Given the description of an element on the screen output the (x, y) to click on. 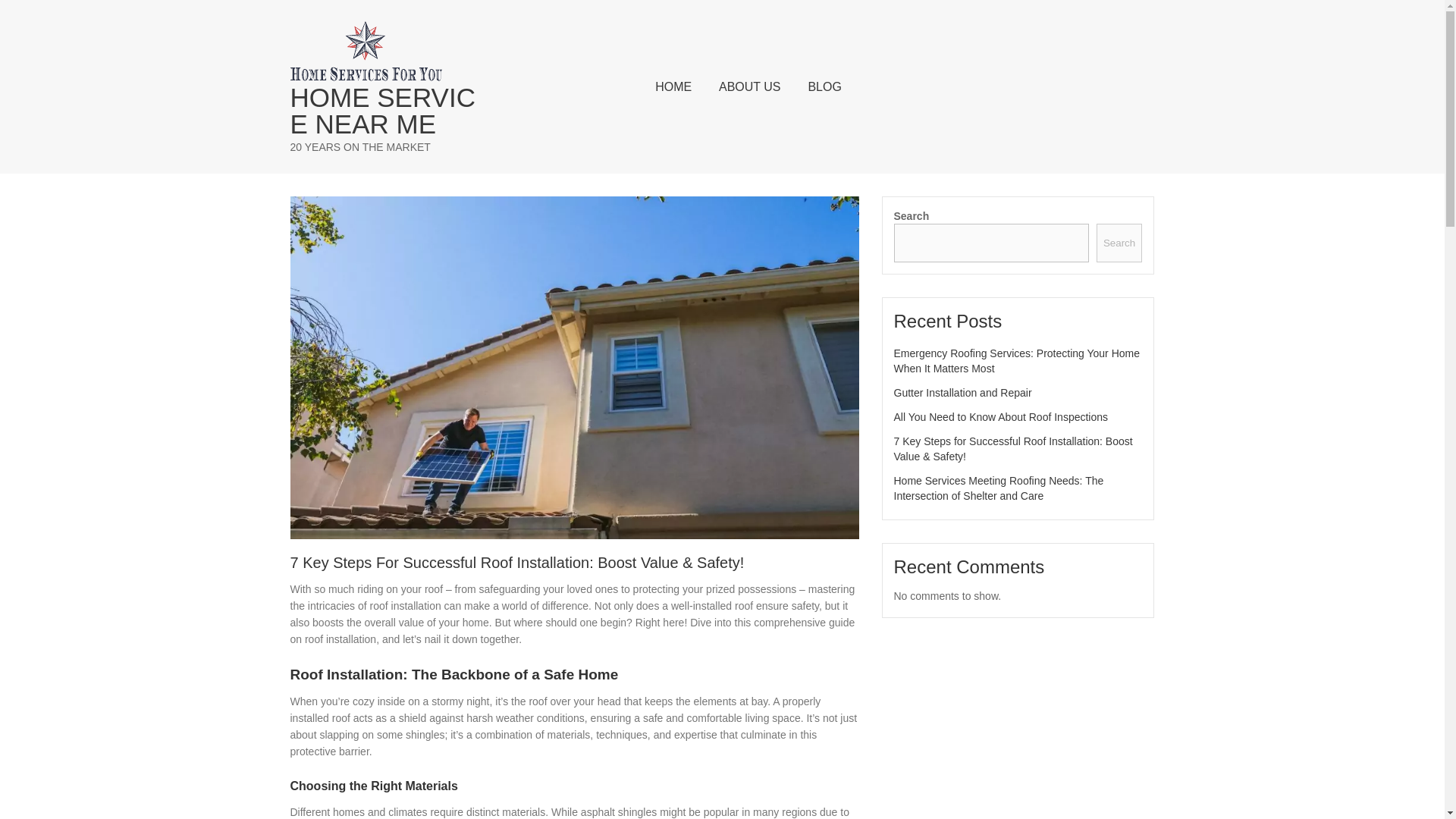
BLOG (824, 86)
Search (1119, 242)
Gutter Installation and Repair (961, 392)
HOME SERVICE NEAR ME (387, 110)
HOME (673, 86)
All You Need to Know About Roof Inspections (1000, 417)
ABOUT US (749, 86)
